Given the description of an element on the screen output the (x, y) to click on. 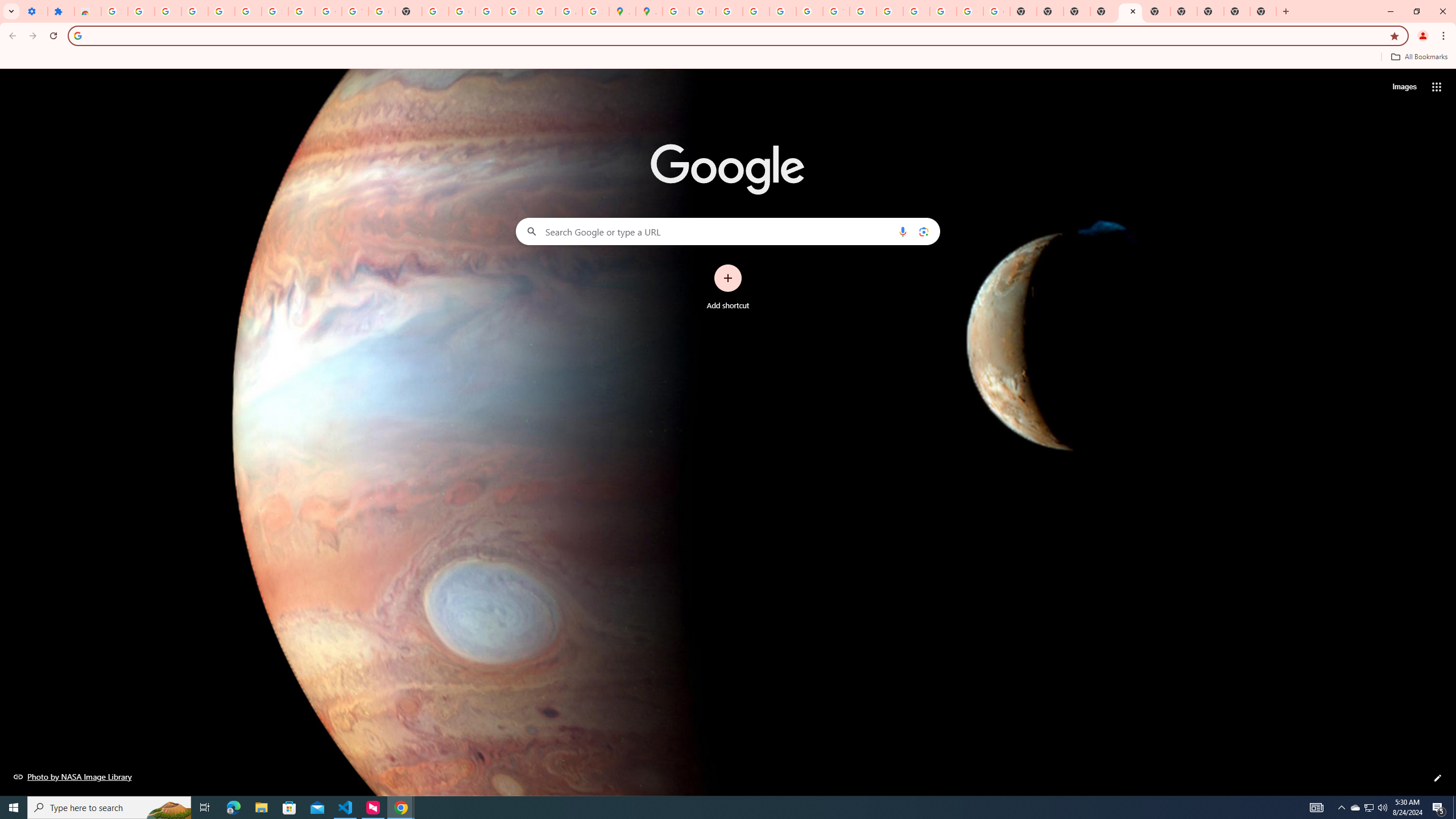
YouTube (355, 11)
New Tab (1262, 11)
Customize this page (1437, 778)
Google Account (328, 11)
New Tab (1210, 11)
Learn how to find your photos - Google Photos Help (221, 11)
